Given the description of an element on the screen output the (x, y) to click on. 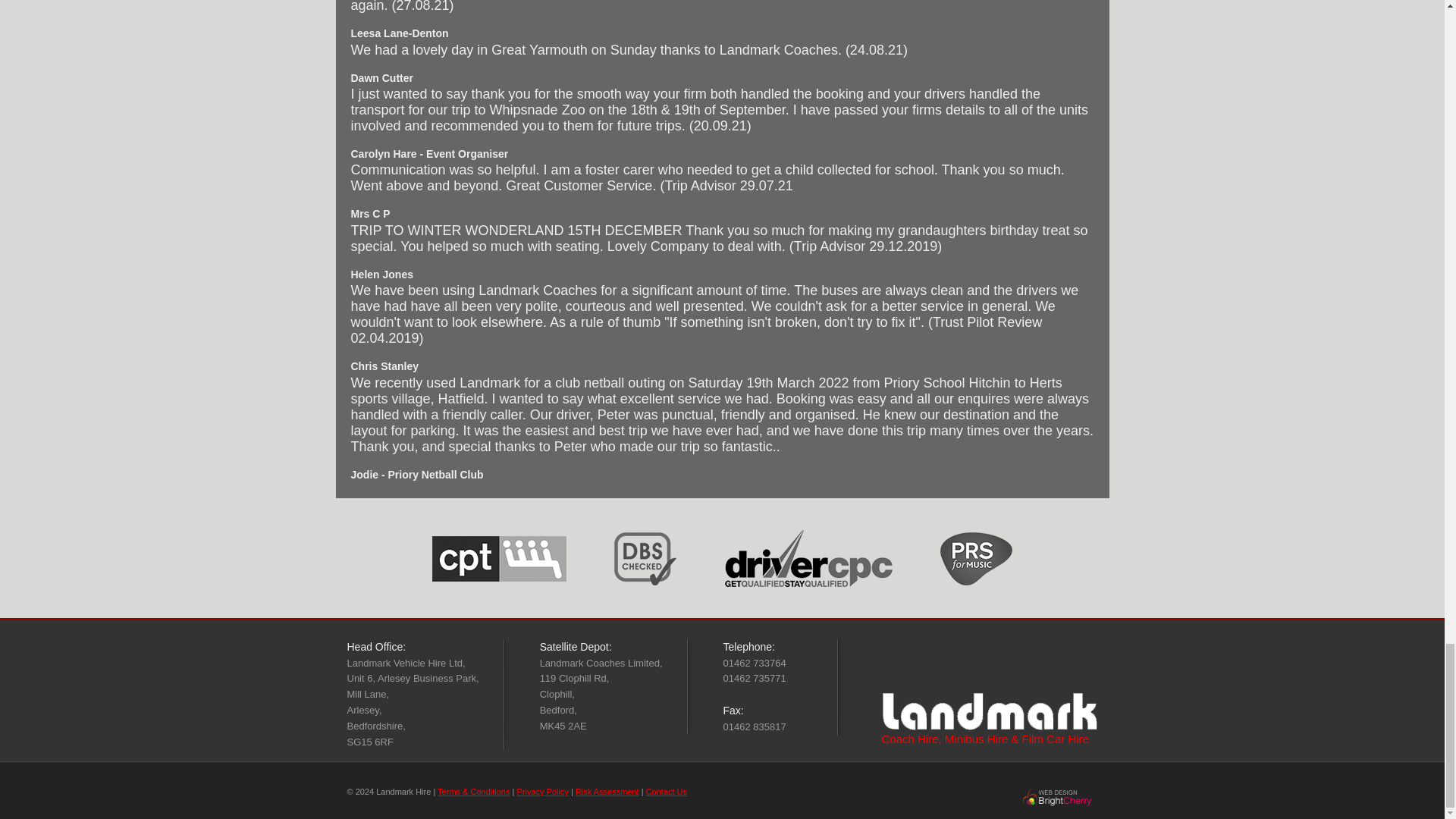
Contact Us (666, 791)
Privacy Policy (541, 791)
Risk Assessment (607, 791)
CPT members (499, 559)
PRS for Music (975, 559)
PRS for Music (975, 558)
Driver CPC (808, 558)
DBS Checked (645, 558)
Driver CPC (808, 559)
DBS Checked (645, 559)
CPT members (499, 558)
